Given the description of an element on the screen output the (x, y) to click on. 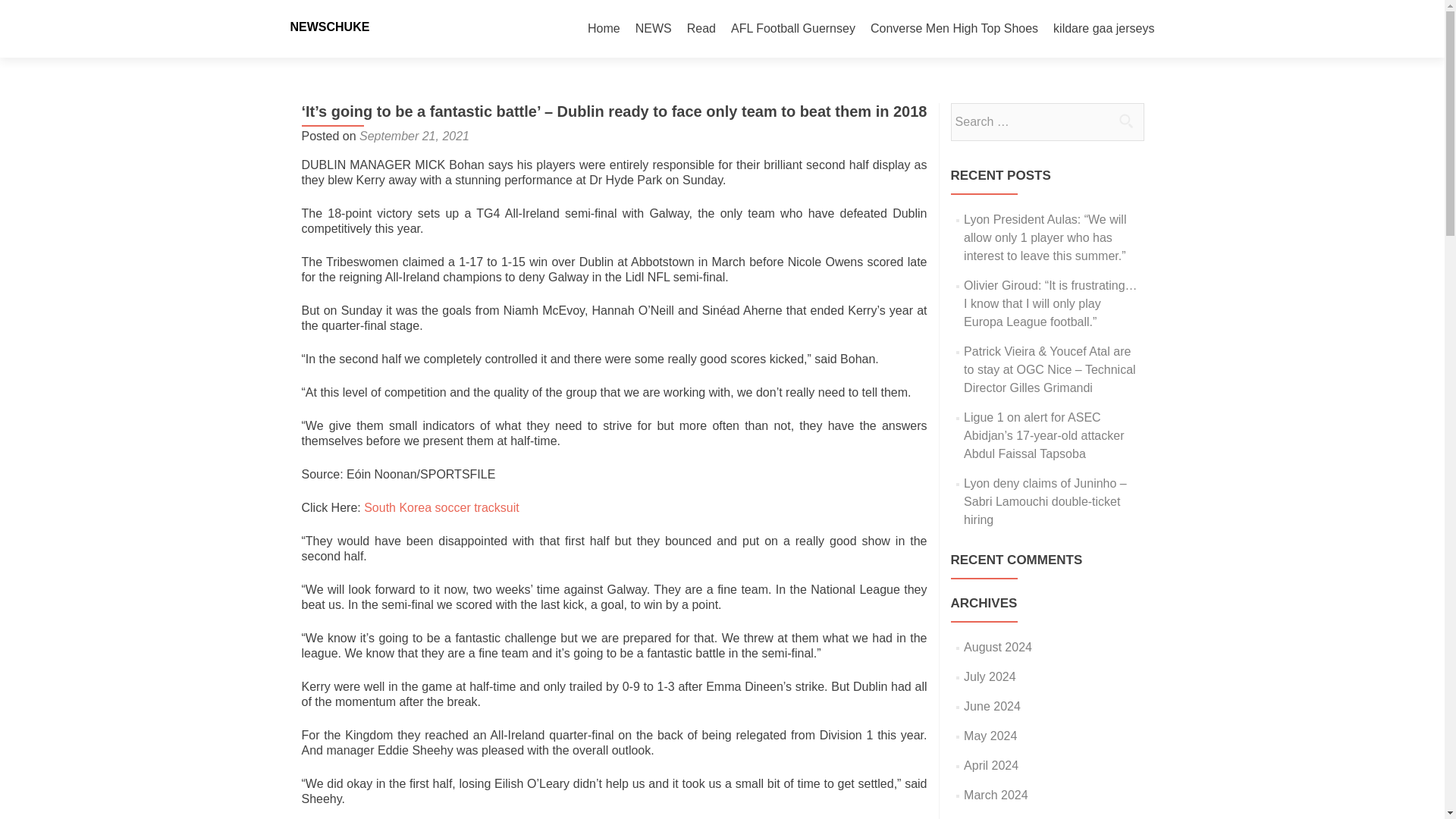
July 2024 (989, 676)
South Korea soccer tracksuit (441, 507)
April 2024 (990, 765)
August 2024 (997, 646)
Read (701, 28)
Search (1125, 120)
kildare gaa jerseys (1103, 28)
Search (1125, 120)
Search (1125, 120)
AFL Football Guernsey (793, 28)
